Given the description of an element on the screen output the (x, y) to click on. 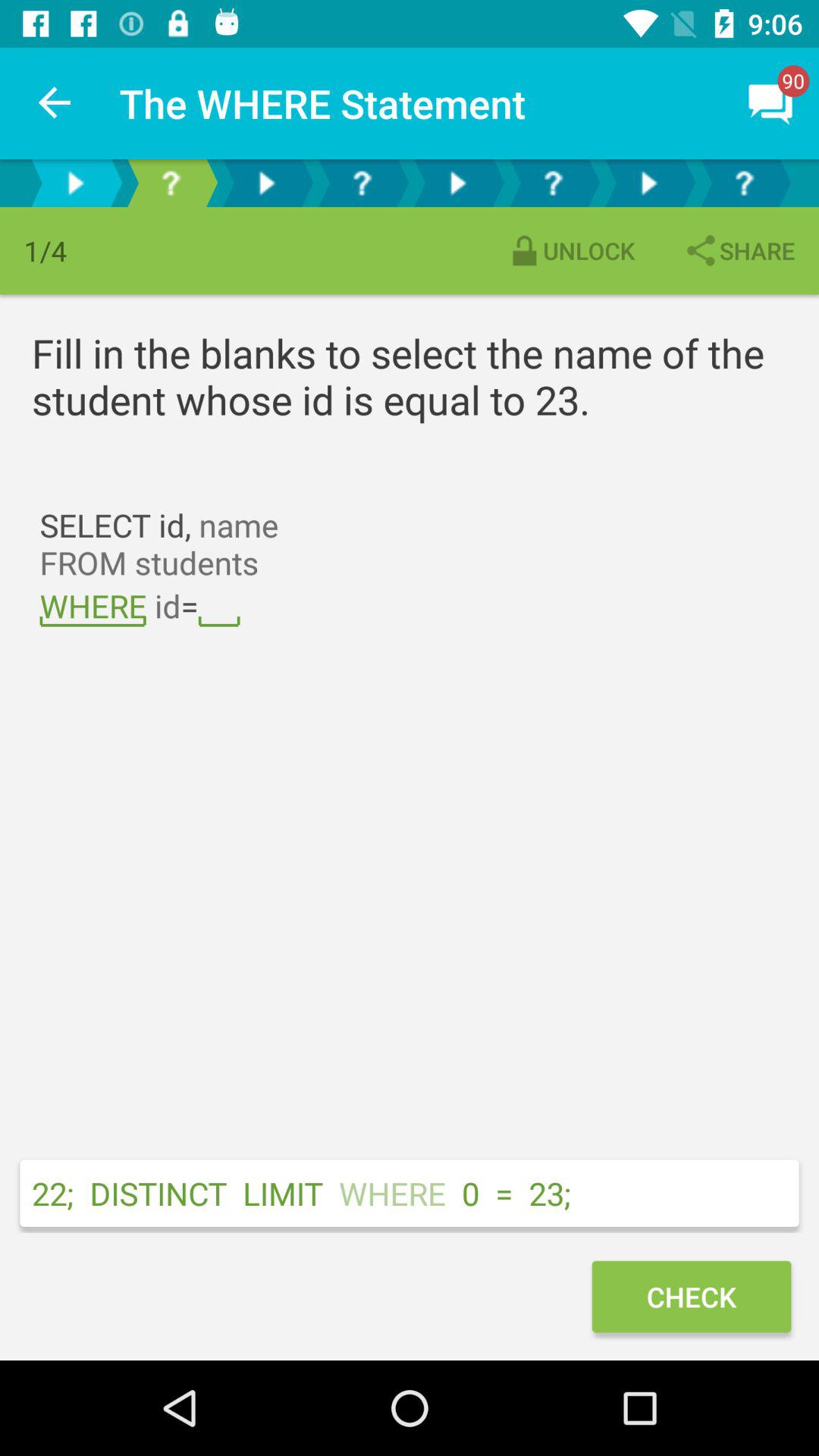
frequently asked questions (170, 183)
